Given the description of an element on the screen output the (x, y) to click on. 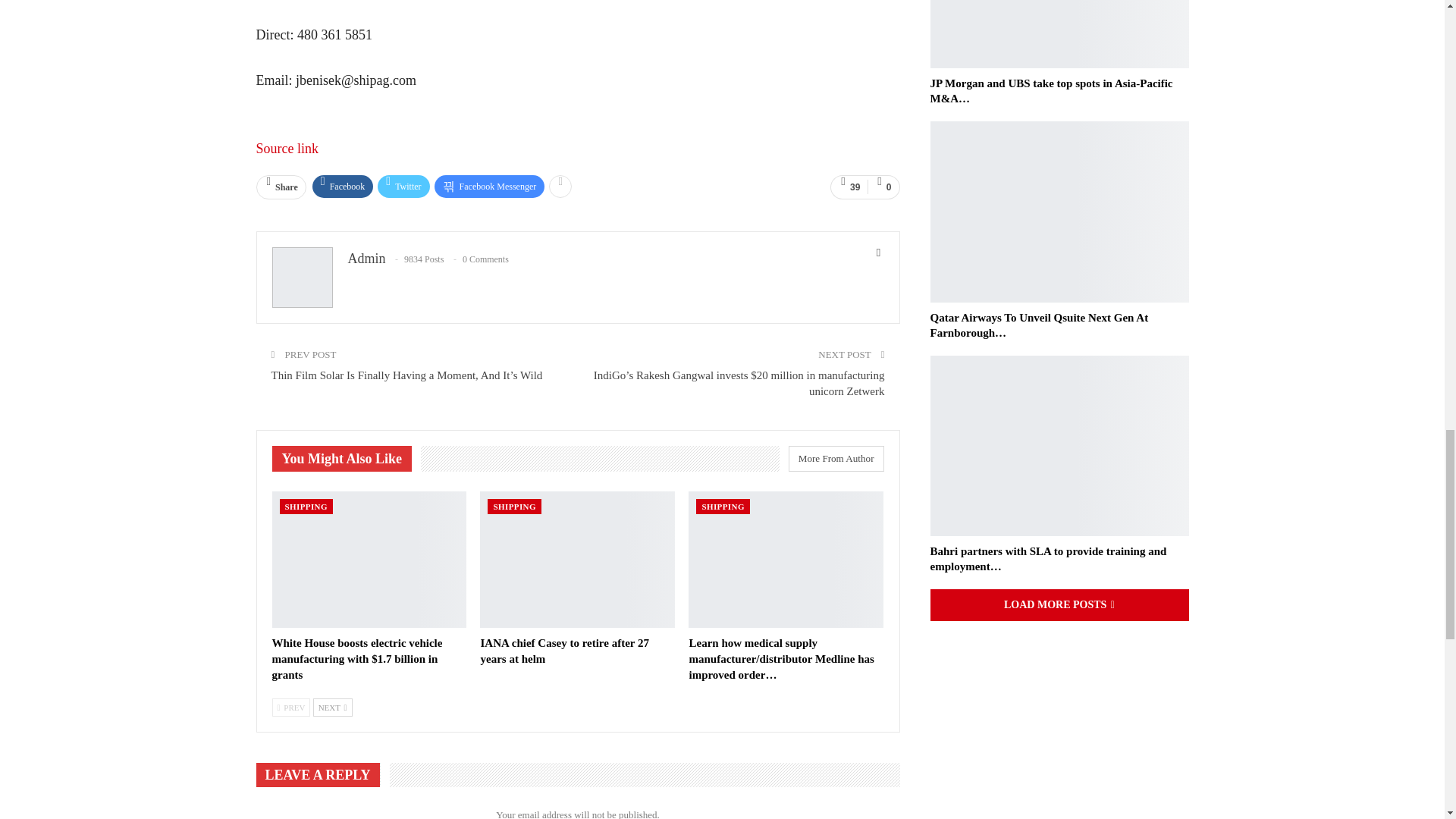
IANA chief Casey to retire after 27 years at helm (577, 559)
IANA chief Casey to retire after 27 years at helm (563, 651)
